Given the description of an element on the screen output the (x, y) to click on. 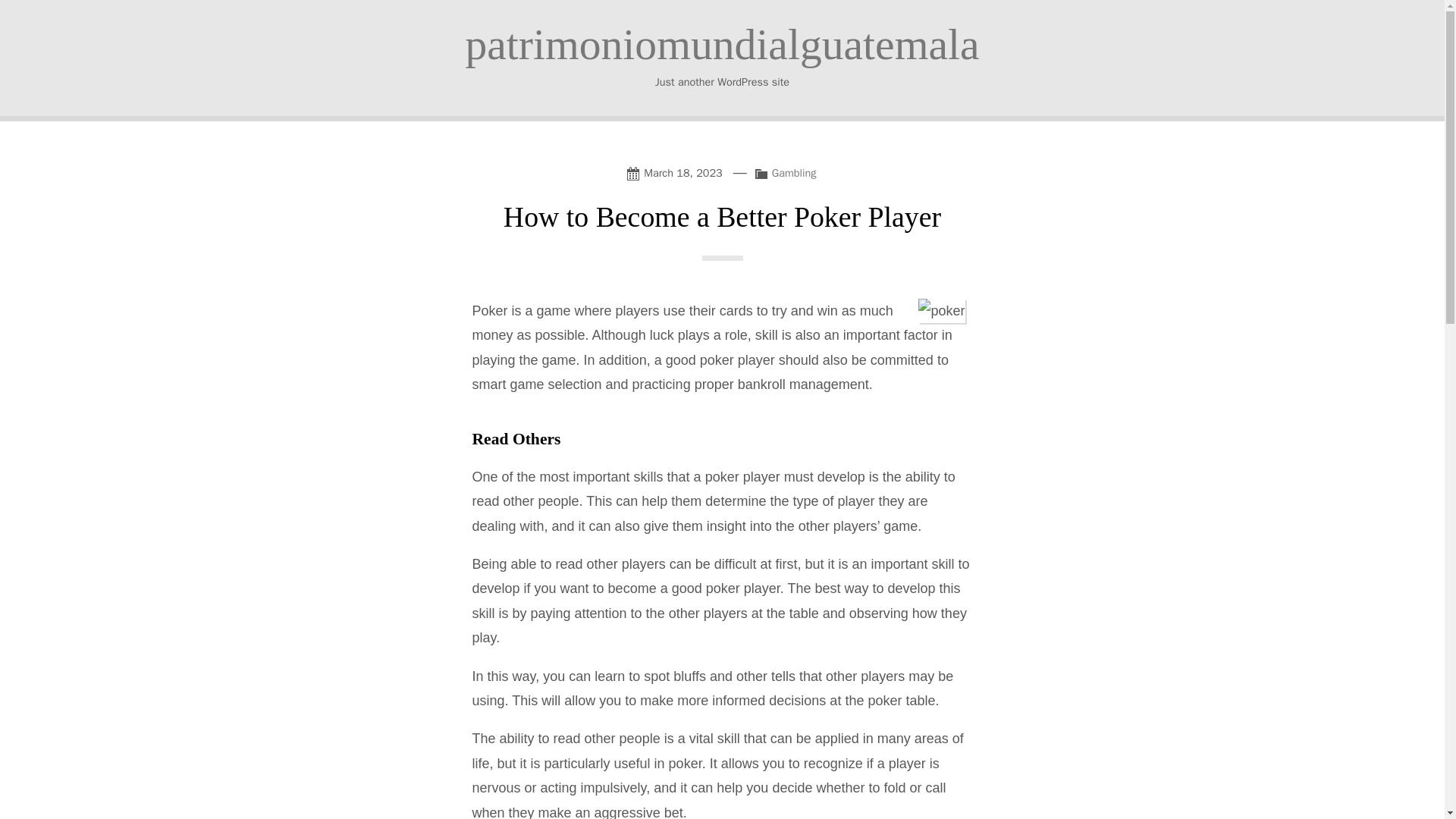
patrimoniomundialguatemala (721, 43)
Gambling (793, 172)
